Given the description of an element on the screen output the (x, y) to click on. 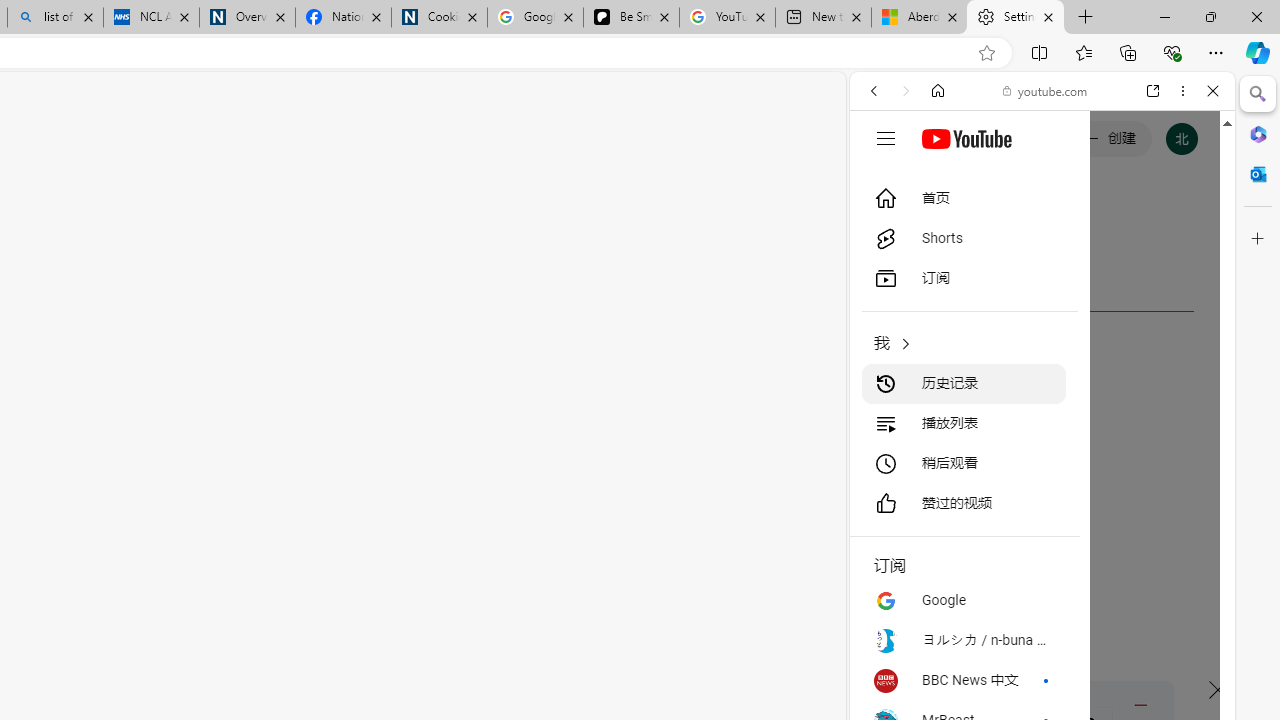
Music (1042, 543)
